Given the description of an element on the screen output the (x, y) to click on. 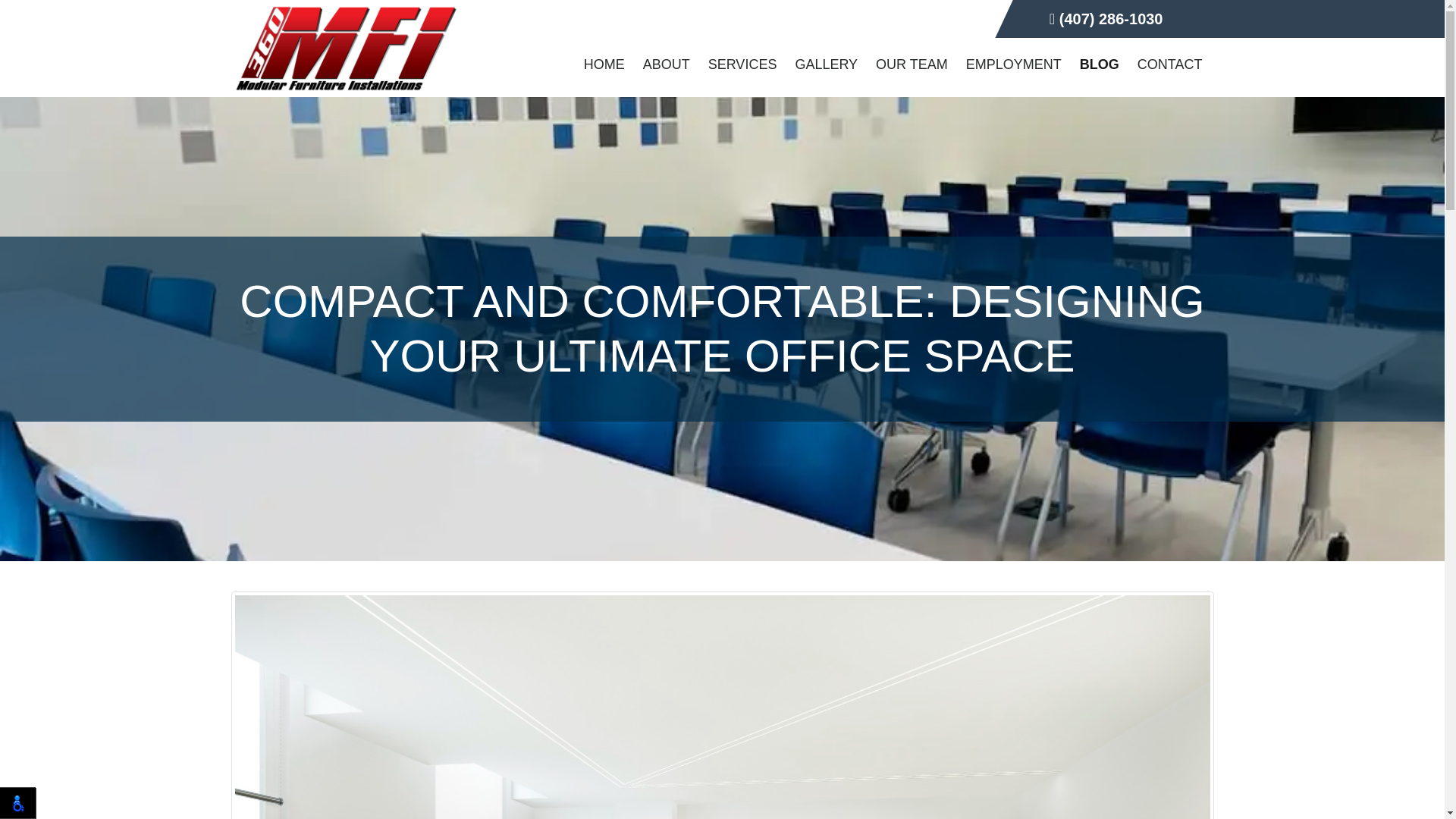
Employment (1013, 64)
SERVICES (742, 64)
CONTACT (1169, 64)
Gallery (826, 64)
OUR TEAM (911, 64)
About (665, 64)
EMPLOYMENT (1013, 64)
Our Team (911, 64)
OUR TEAM (911, 64)
Contact (1169, 64)
Services (742, 64)
ABOUT (665, 64)
GALLERY (826, 64)
Blog (1099, 64)
CONTACT (1169, 64)
